Given the description of an element on the screen output the (x, y) to click on. 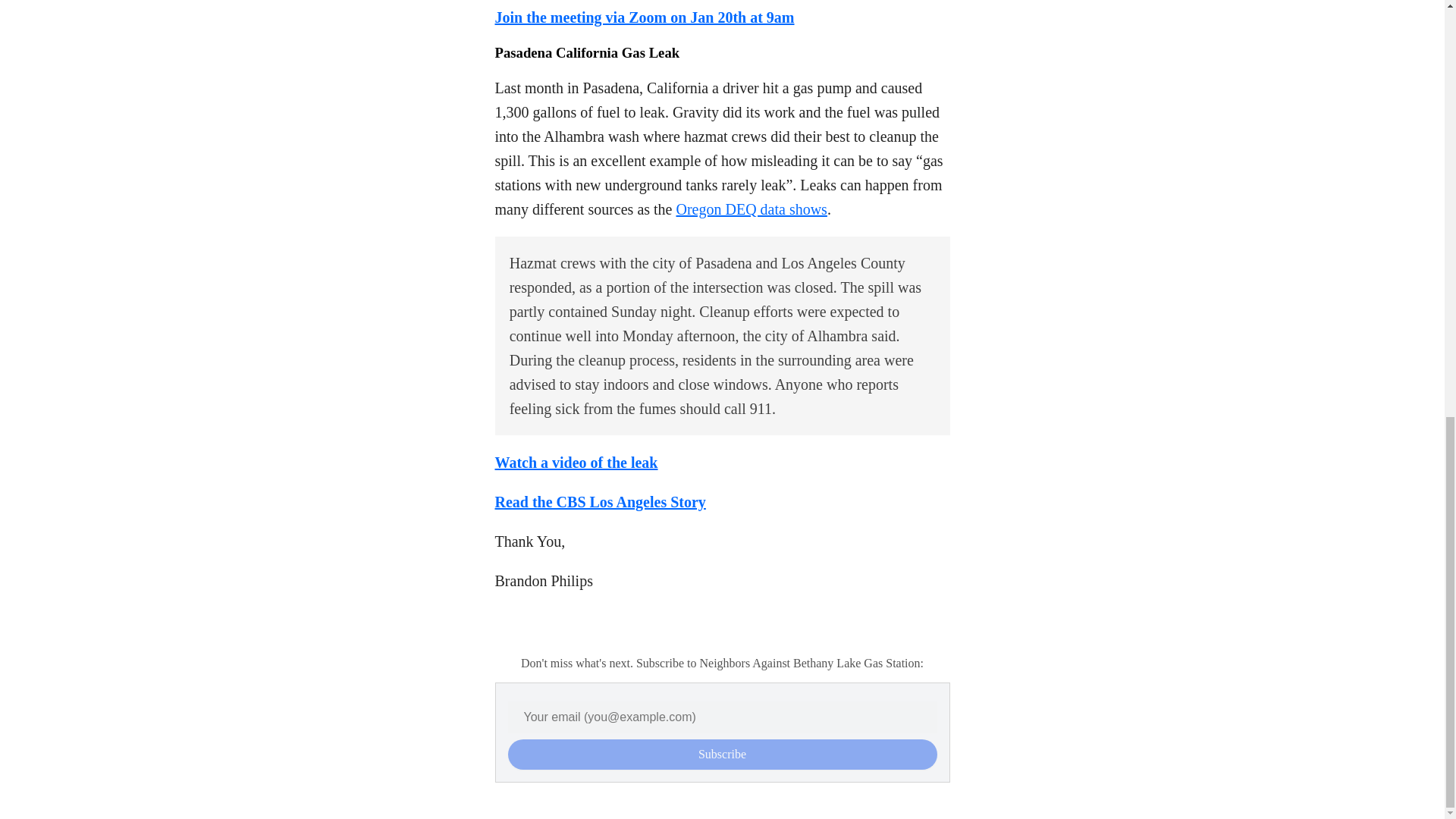
Read the CBS Los Angeles Story (599, 501)
Oregon DEQ data shows (752, 208)
Watch a video of the leak (576, 462)
Join the meeting via Zoom on Jan 20th at 9am (644, 17)
